Given the description of an element on the screen output the (x, y) to click on. 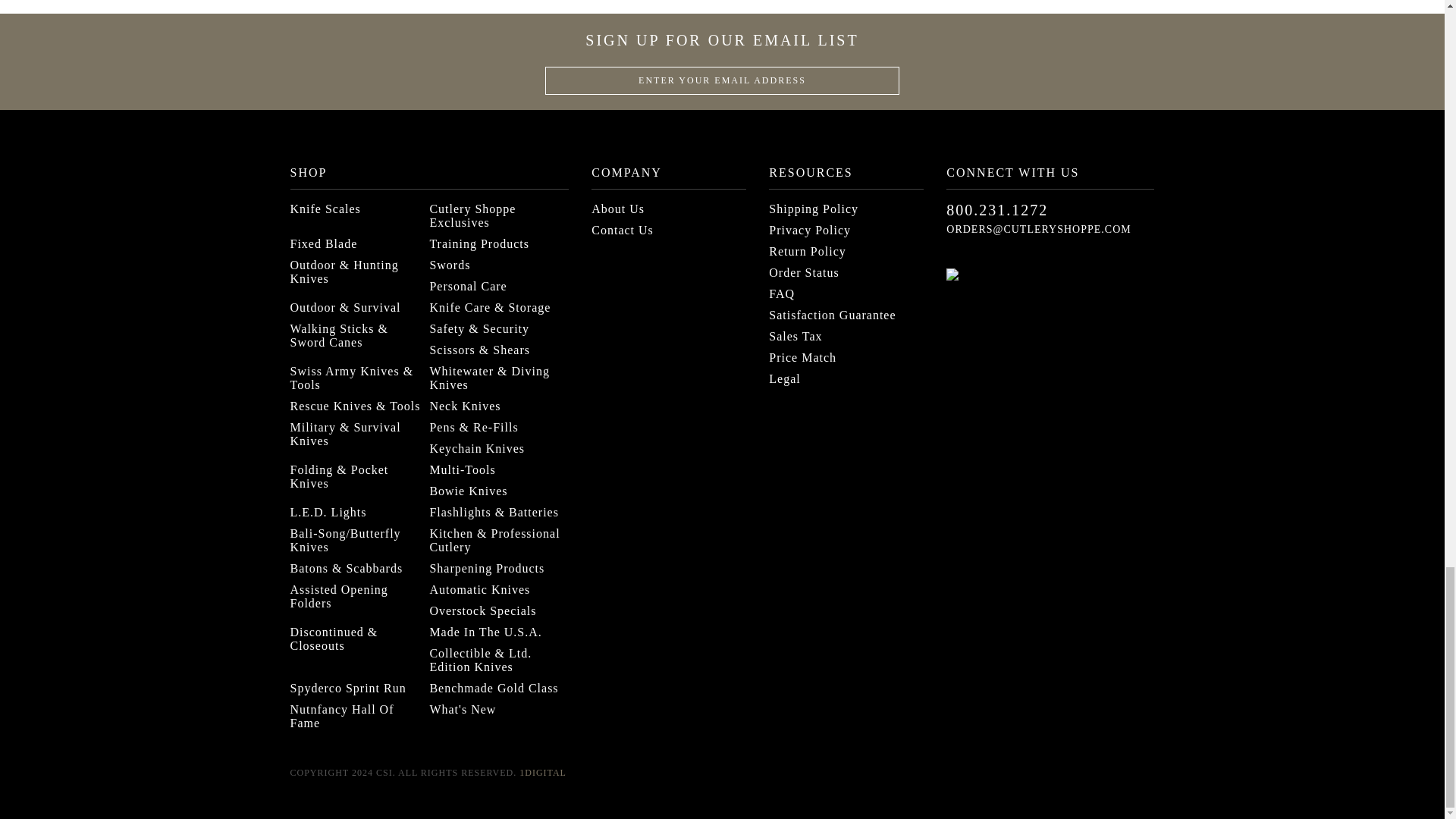
enter your email address (721, 80)
